Given the description of an element on the screen output the (x, y) to click on. 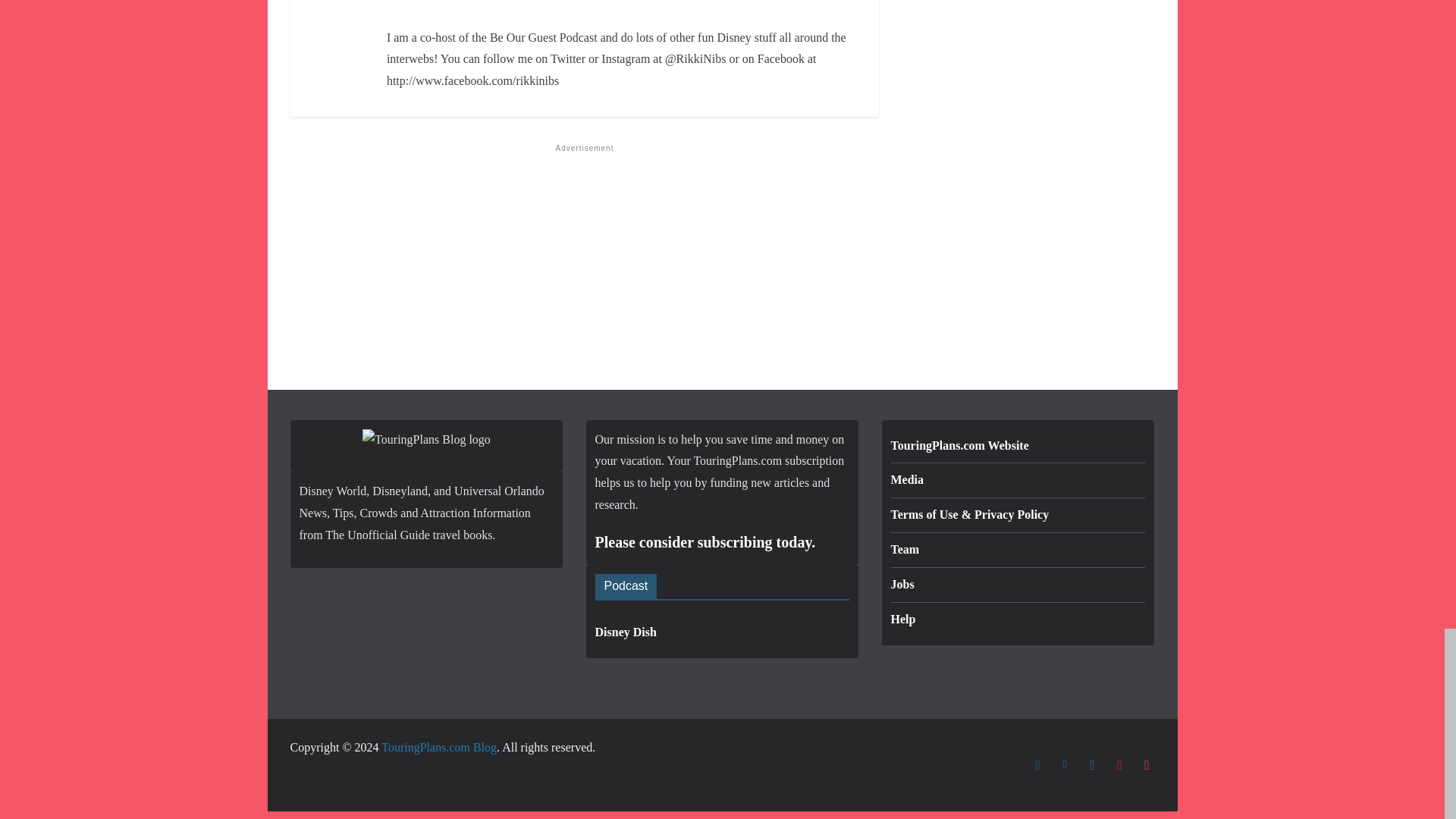
TouringPlans.com Blog (438, 747)
